Given the description of an element on the screen output the (x, y) to click on. 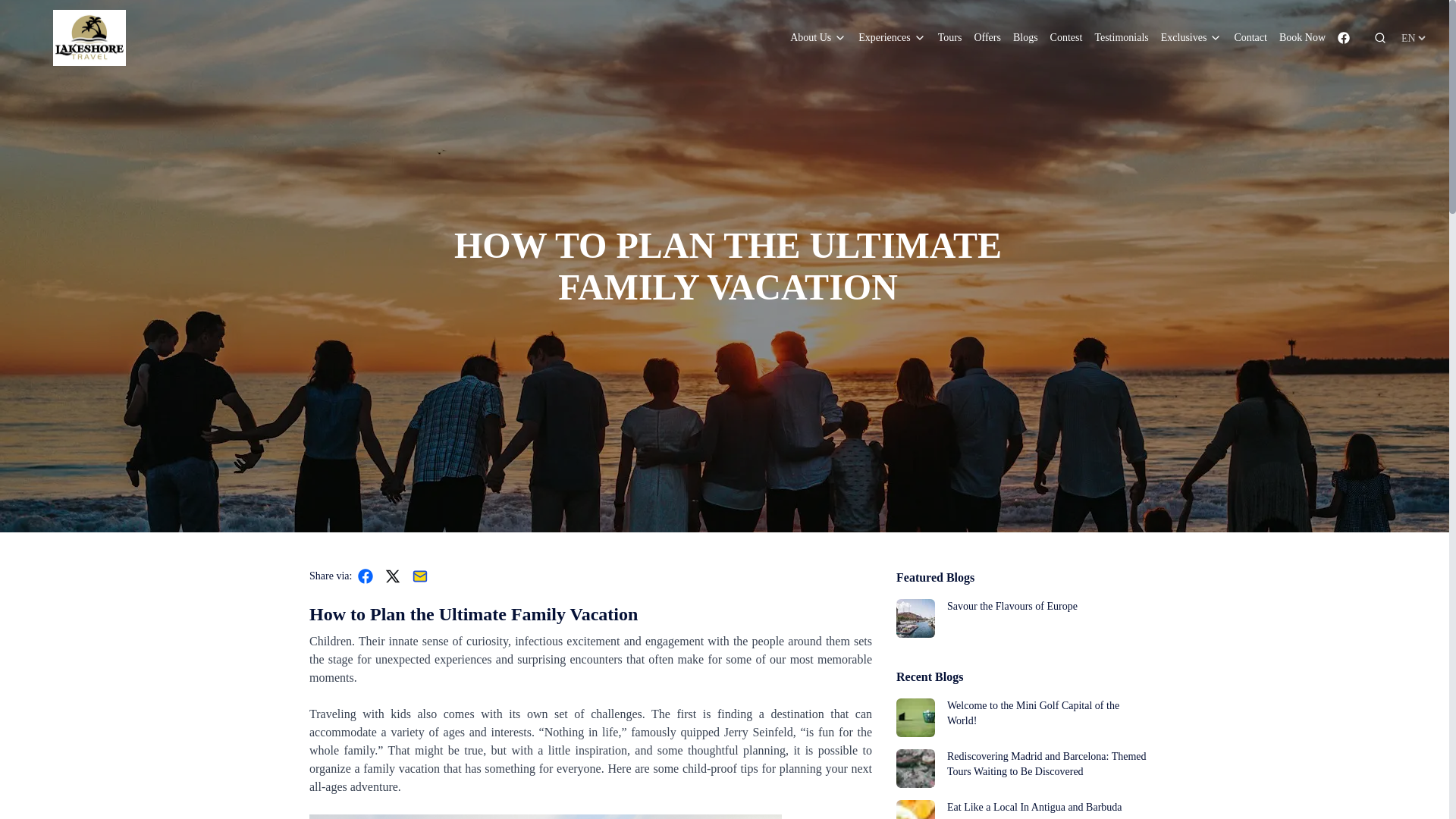
Book Now (1301, 37)
Savour the Flavours of Europe (1021, 618)
Experiences (891, 37)
Testimonials (1121, 37)
Exclusives (1191, 37)
About Us (817, 37)
Welcome to the Mini Golf Capital of the World! (1021, 717)
Eat Like a Local In Antigua and Barbuda (1021, 809)
